Given the description of an element on the screen output the (x, y) to click on. 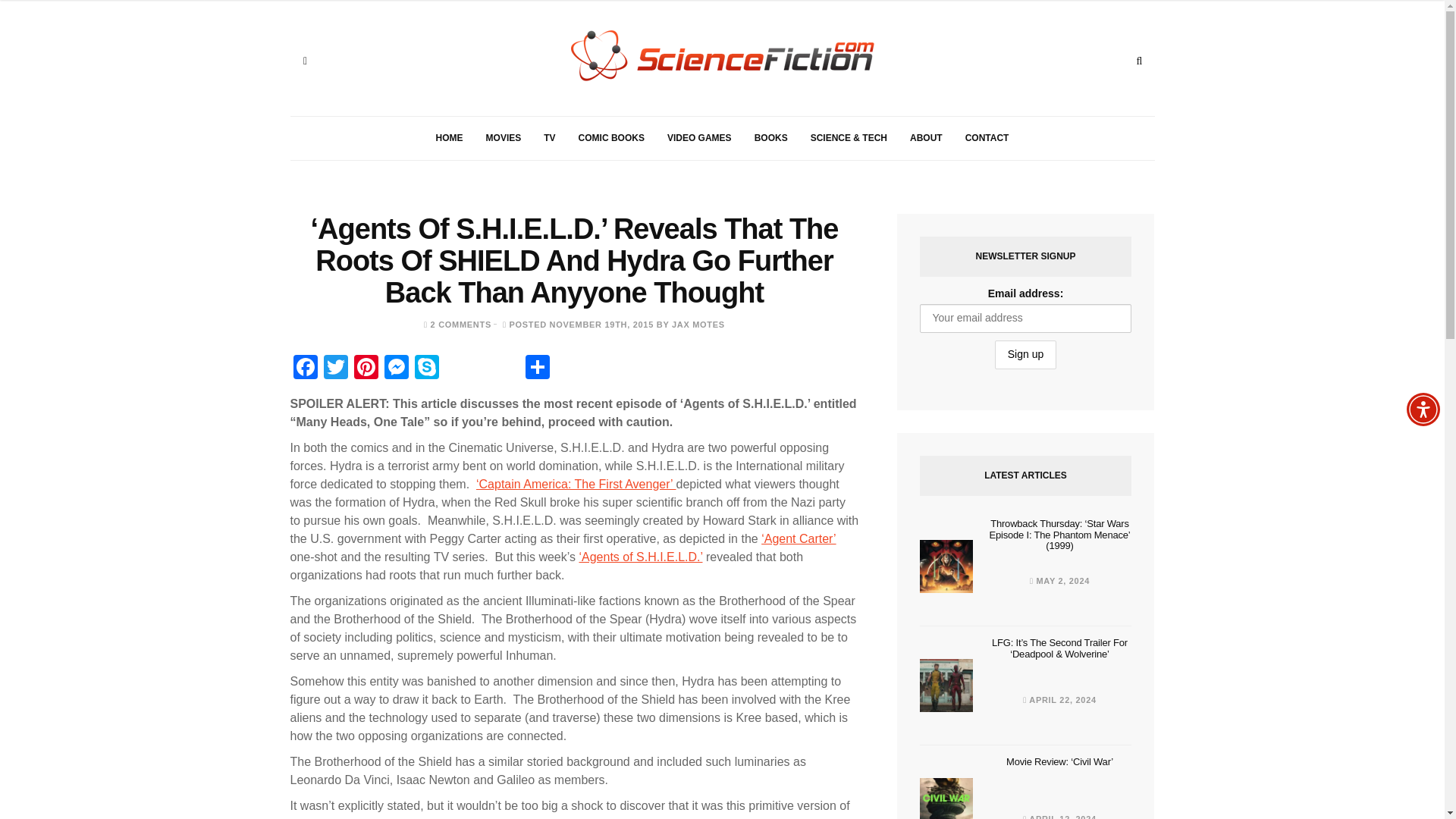
Twitter (335, 368)
VIDEO GAMES (699, 138)
Accessibility Menu (1422, 409)
Sign up (1025, 354)
BOOKS (770, 138)
Facebook (304, 368)
CONTACT (986, 138)
COMIC BOOKS (611, 138)
MOVIES (503, 138)
Posts by Jax Motes (698, 324)
